Given the description of an element on the screen output the (x, y) to click on. 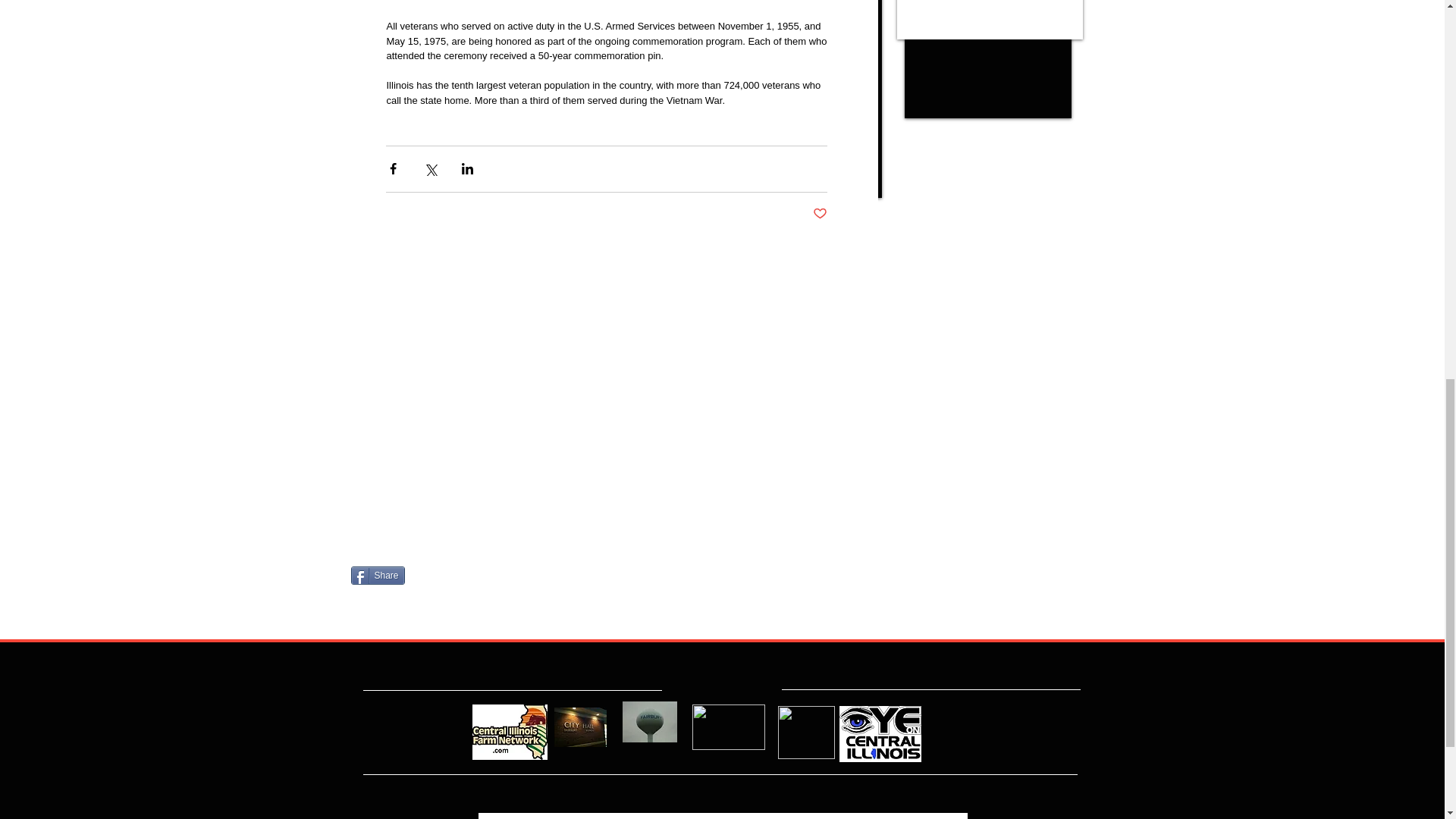
CASSON MEDIA LOGO plain.jpg (727, 727)
CIFN RADIO GREENWELL LOGO.jpg (805, 732)
Post not marked as liked (819, 213)
Share (377, 575)
EYE ON CENTRAL ILLINOIS 3.jpg (879, 733)
FAIRBURY WATER TOWER.JPG (649, 721)
FAIRBURY CITY HALL NIGHTTIME.jpg (579, 726)
Share (377, 575)
CIFN LOGO AD W DOT COM.jpg (509, 732)
